Given the description of an element on the screen output the (x, y) to click on. 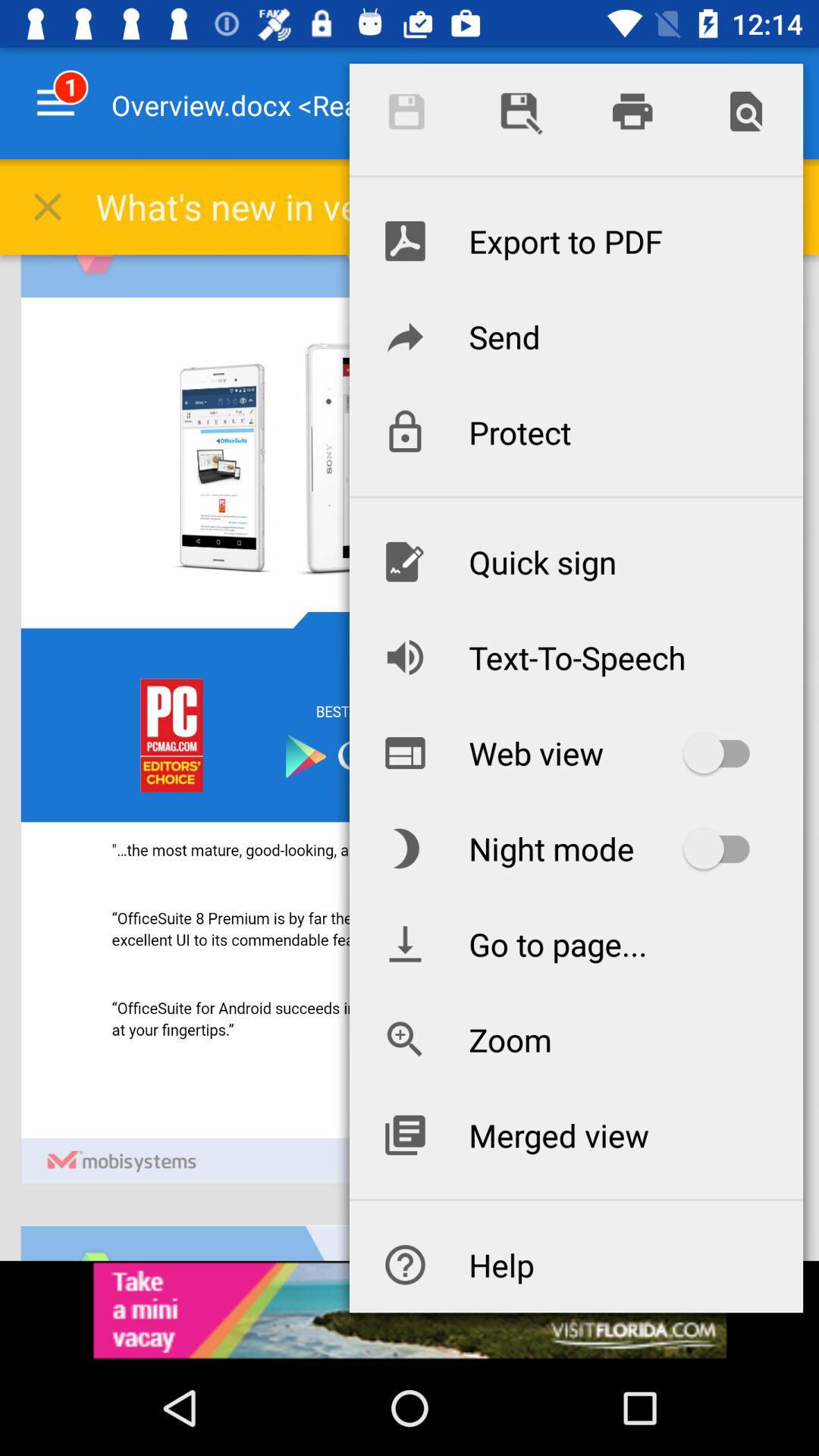
select the zoom item (576, 1039)
